Given the description of an element on the screen output the (x, y) to click on. 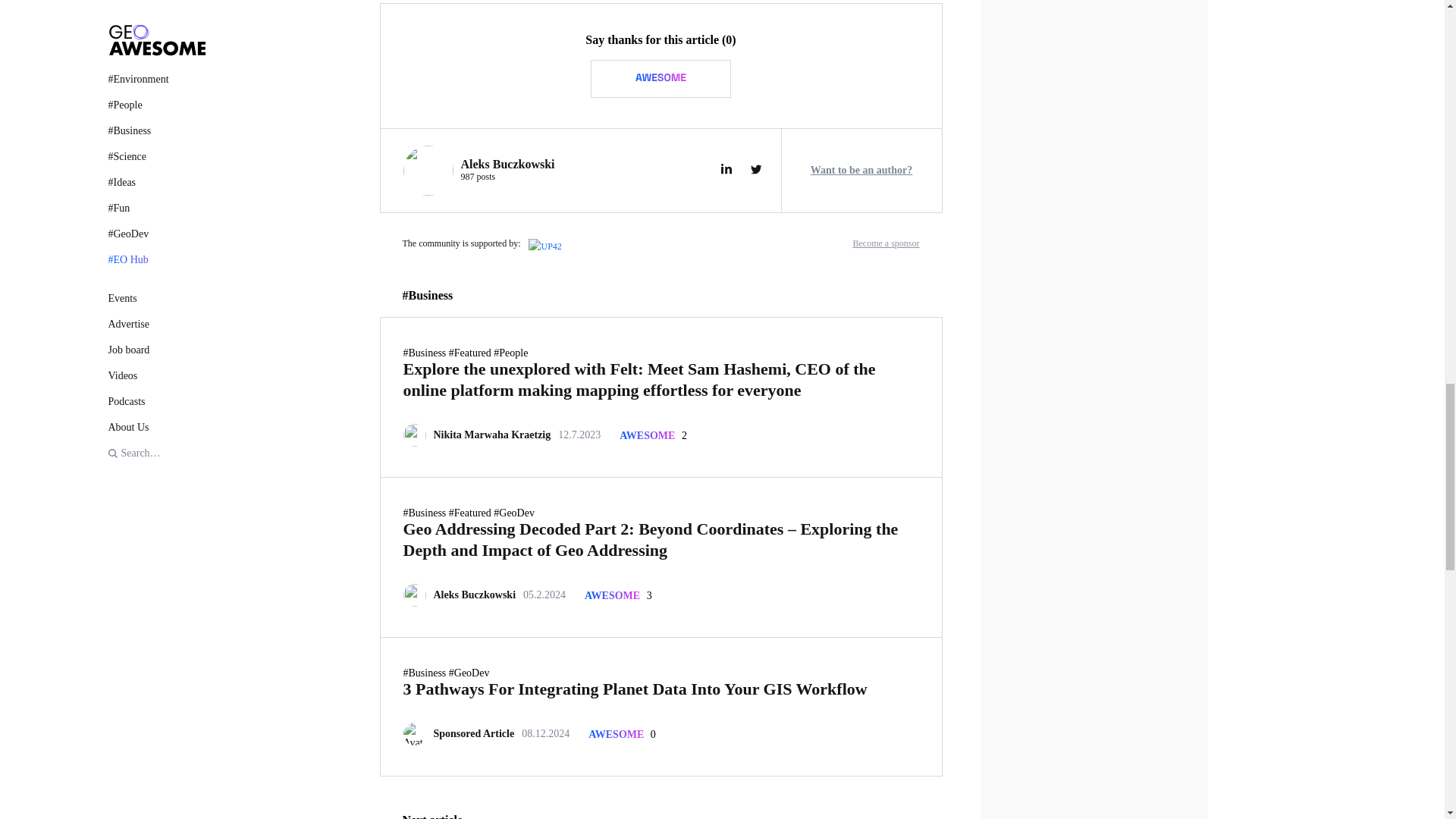
Become a sponsor (886, 243)
Want to be an author? (861, 170)
